Given the description of an element on the screen output the (x, y) to click on. 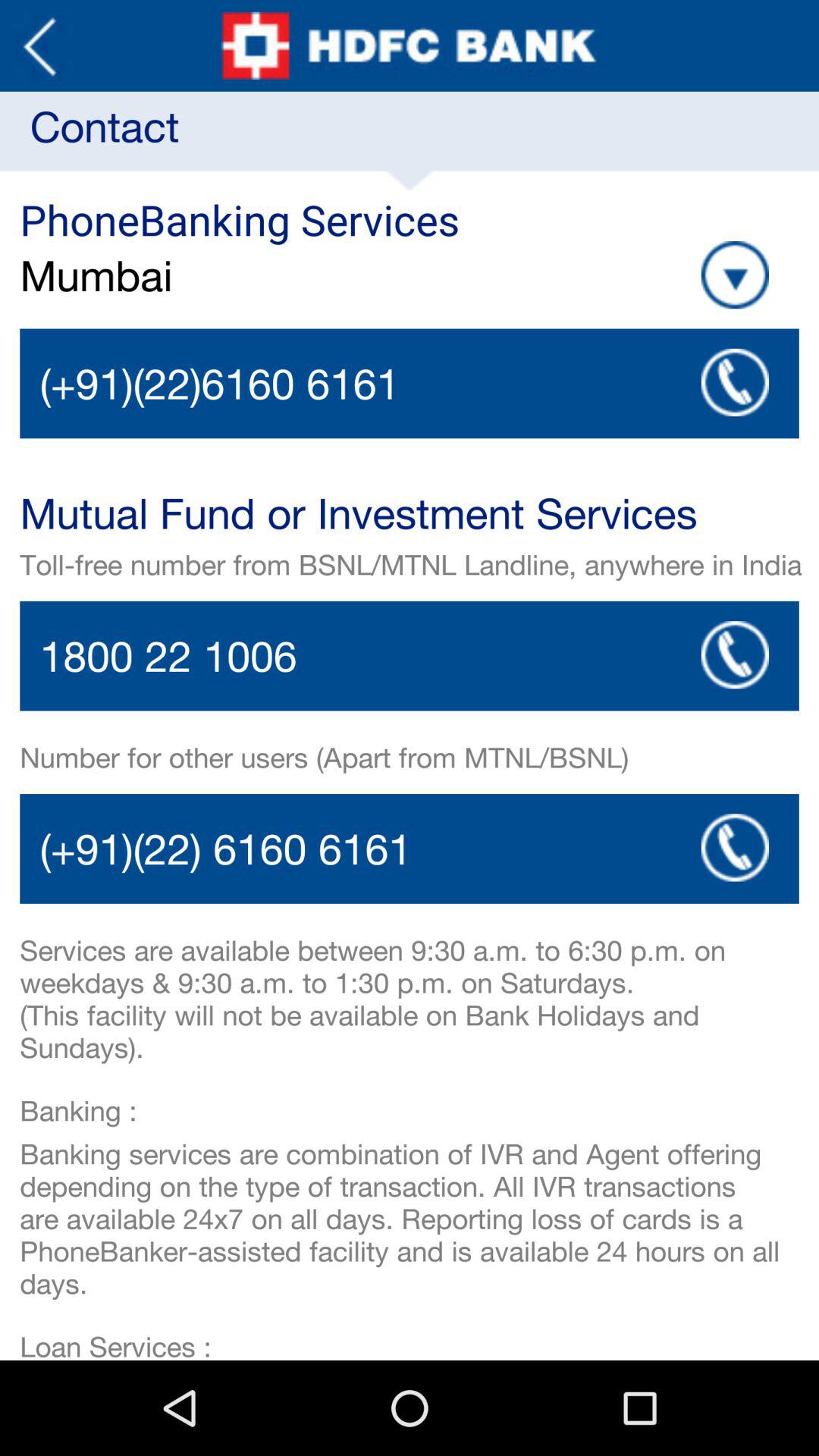
call number (409, 848)
